Given the description of an element on the screen output the (x, y) to click on. 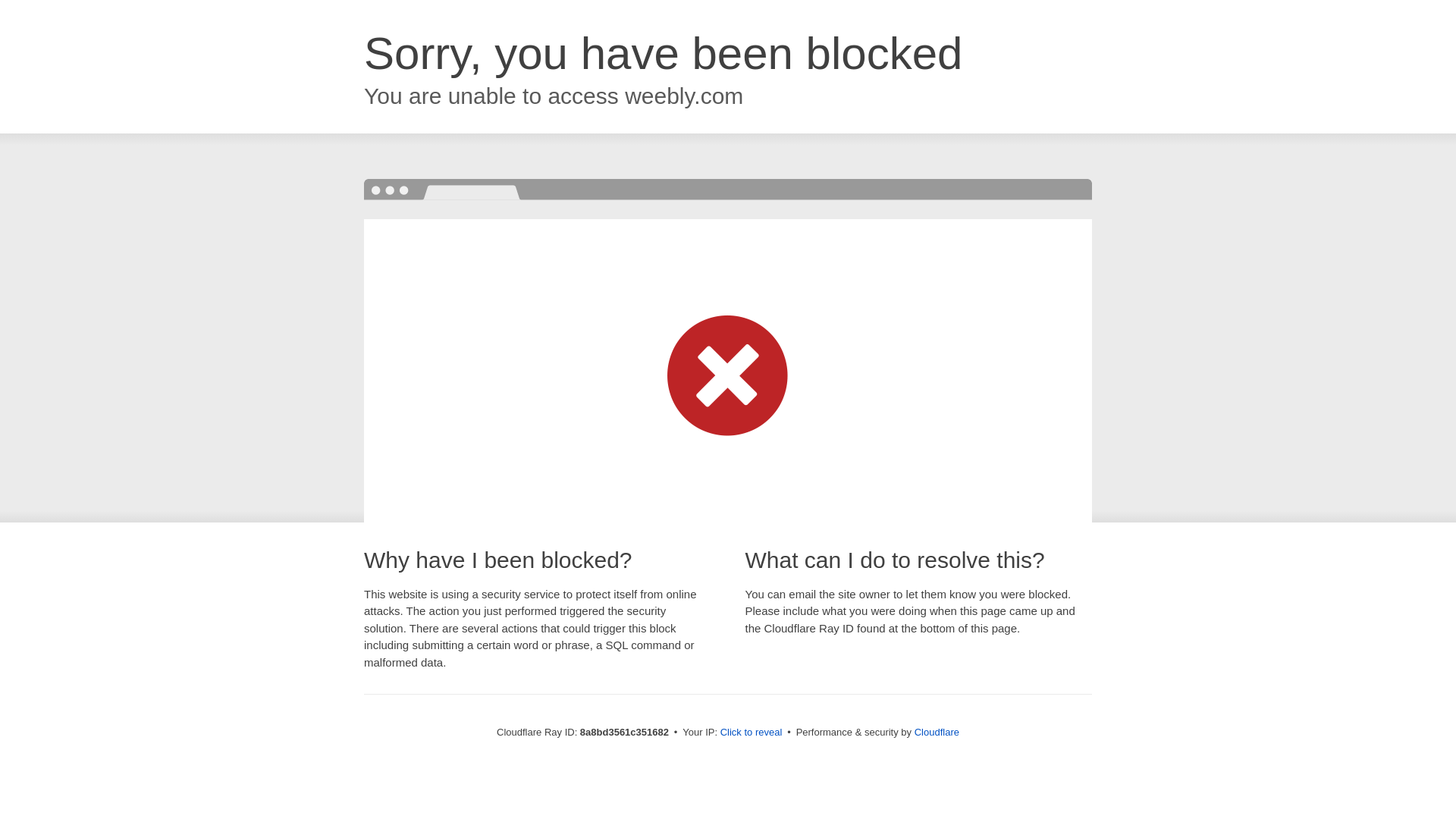
Click to reveal (751, 732)
Cloudflare (936, 731)
